Given the description of an element on the screen output the (x, y) to click on. 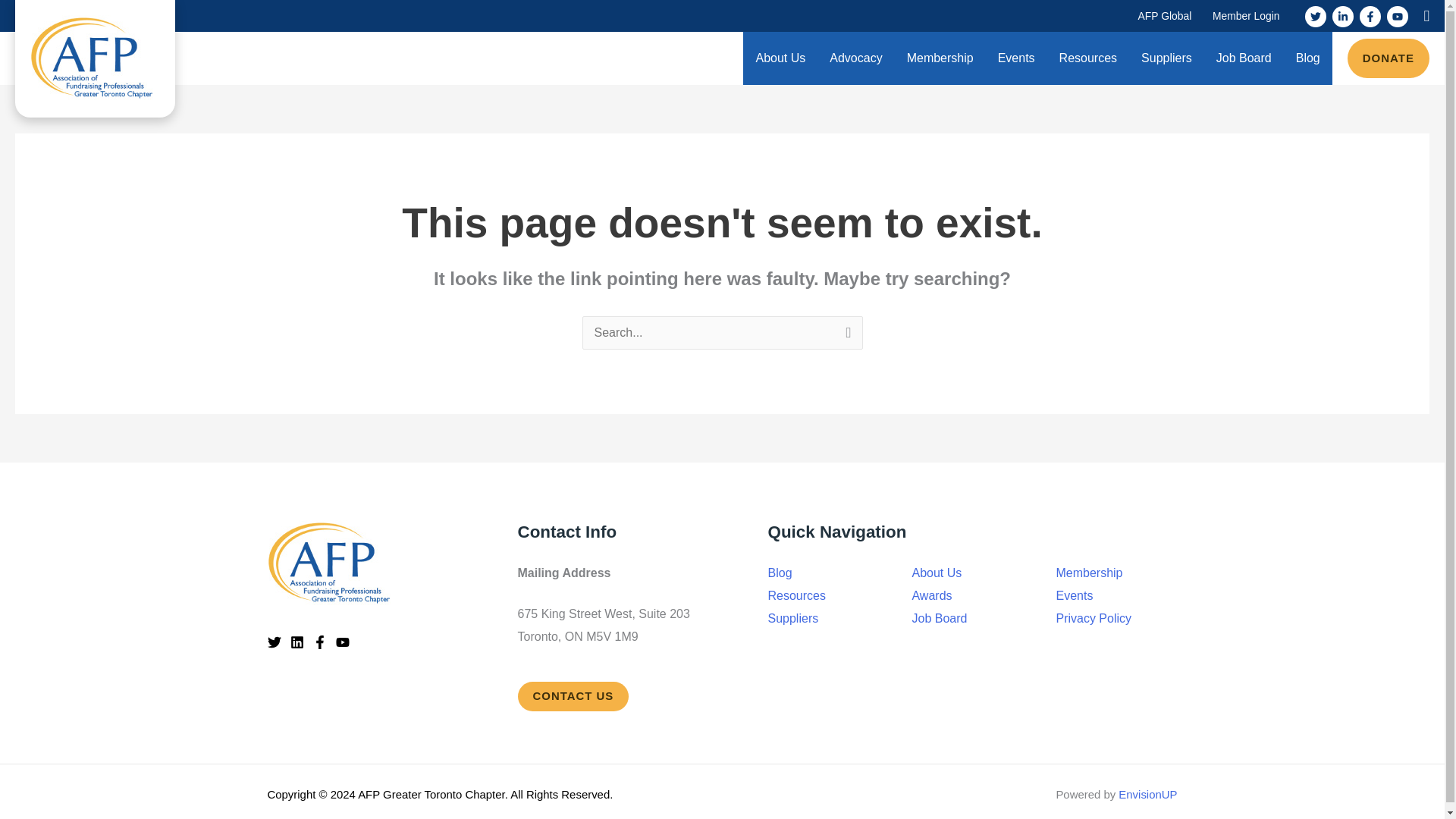
Events (1015, 58)
Job Board (1244, 58)
About Us (779, 58)
AFP Global (1164, 15)
Member Login (1246, 15)
Resources (1087, 58)
Suppliers (1166, 58)
Advocacy (854, 58)
Membership (940, 58)
